Given the description of an element on the screen output the (x, y) to click on. 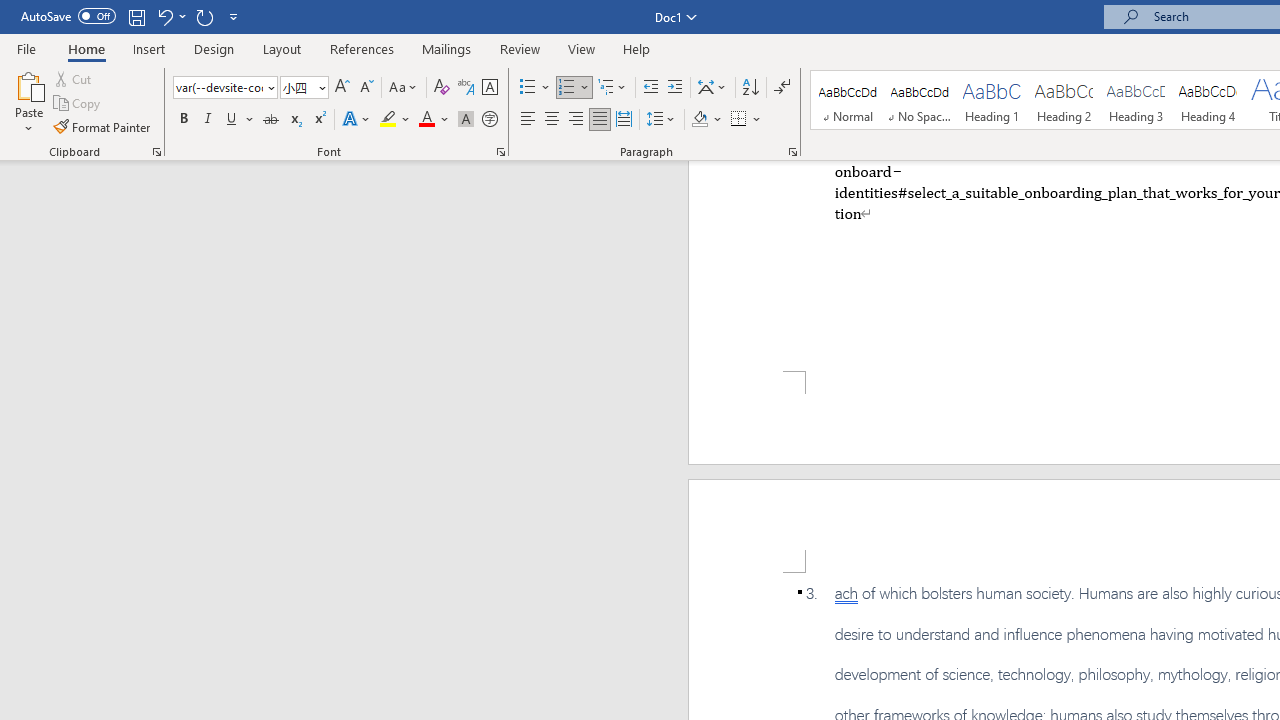
Font (224, 87)
Heading 4 (1208, 100)
Bullets (535, 87)
Heading 2 (1063, 100)
Sort... (750, 87)
Enclose Characters... (489, 119)
Bold (183, 119)
Home (86, 48)
File Tab (26, 48)
Align Right (575, 119)
Text Effects and Typography (357, 119)
Align Left (527, 119)
Character Shading (465, 119)
Paste (28, 84)
